Given the description of an element on the screen output the (x, y) to click on. 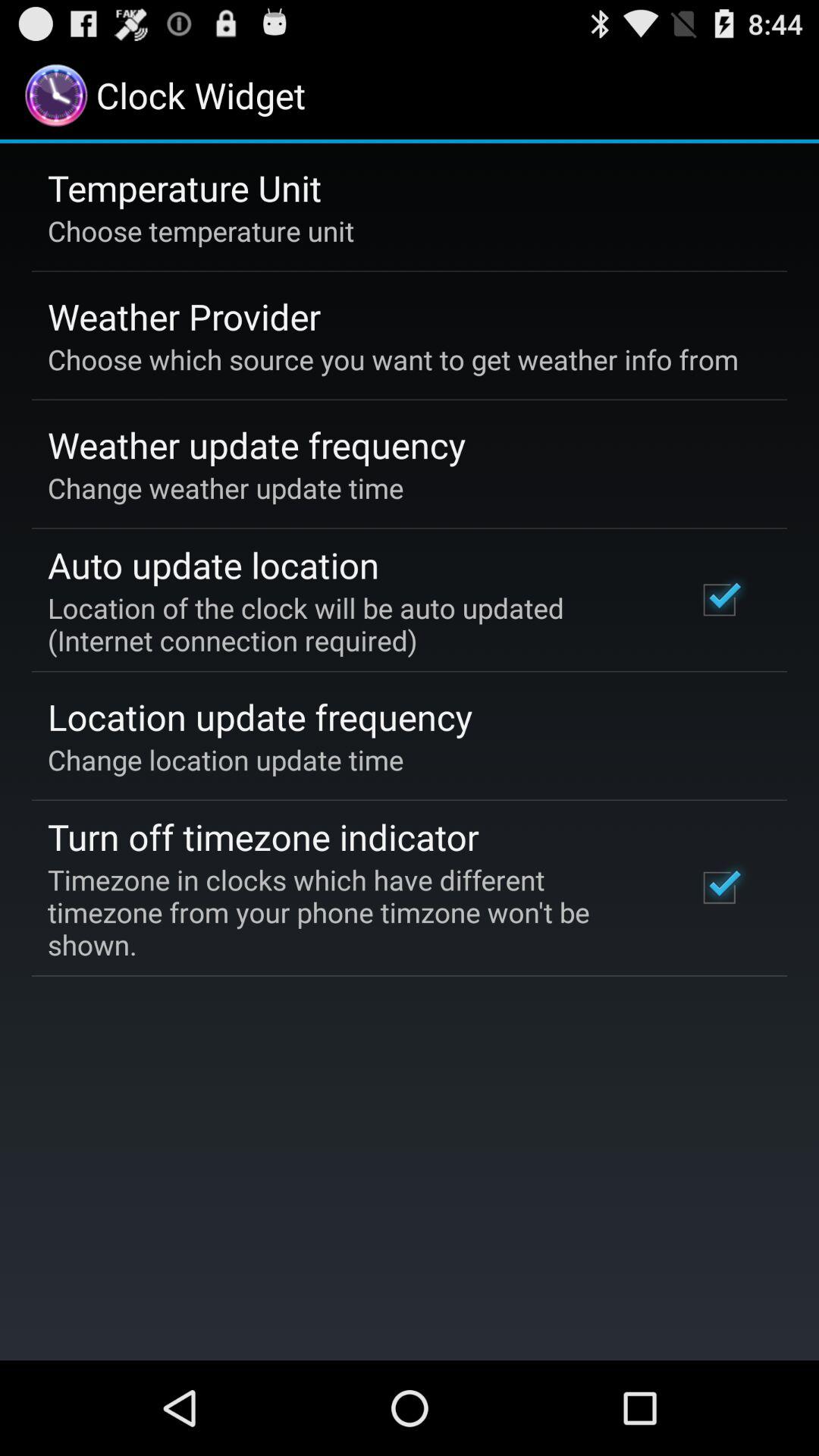
choose the icon below turn off timezone app (351, 912)
